Given the description of an element on the screen output the (x, y) to click on. 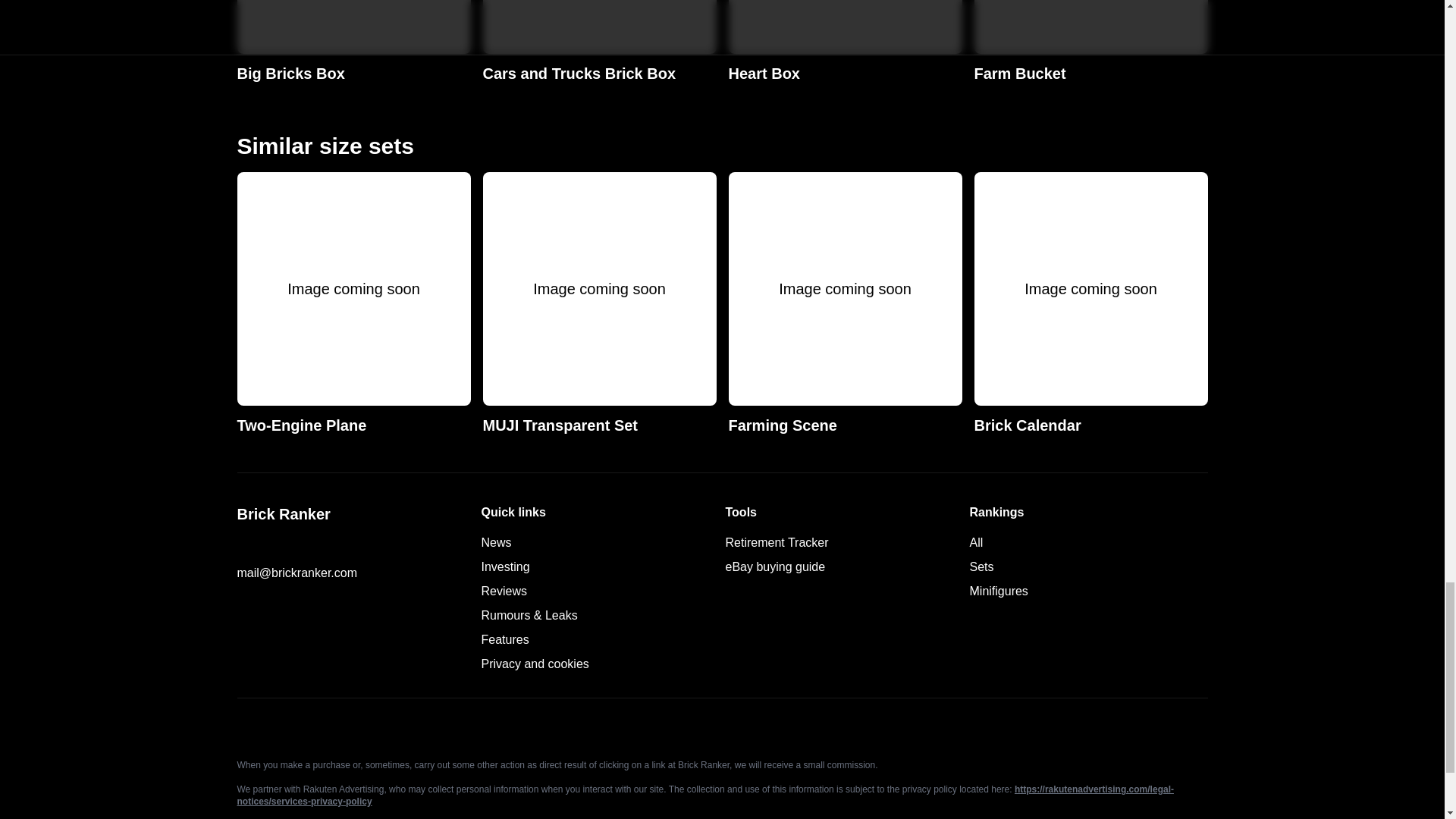
View our privacy and cookie policy (534, 663)
Retirement Tracker (776, 542)
Go to the Brick Ranker Twitter page (1090, 42)
Brick Ranker (352, 303)
View all Brick Ranker feature articles (243, 544)
View all Brick Ranker rumour and leak articles (354, 513)
View the top 100 most valuable LEGO minifigures (504, 639)
View the top 100 most valuable LEGO sets (352, 42)
View the Brick Ranker set retirement tracker (528, 615)
Privacy and cookies (998, 590)
View all Brick Ranker news articles (980, 566)
Go to the Brick Ranker Instagram page (776, 542)
